Given the description of an element on the screen output the (x, y) to click on. 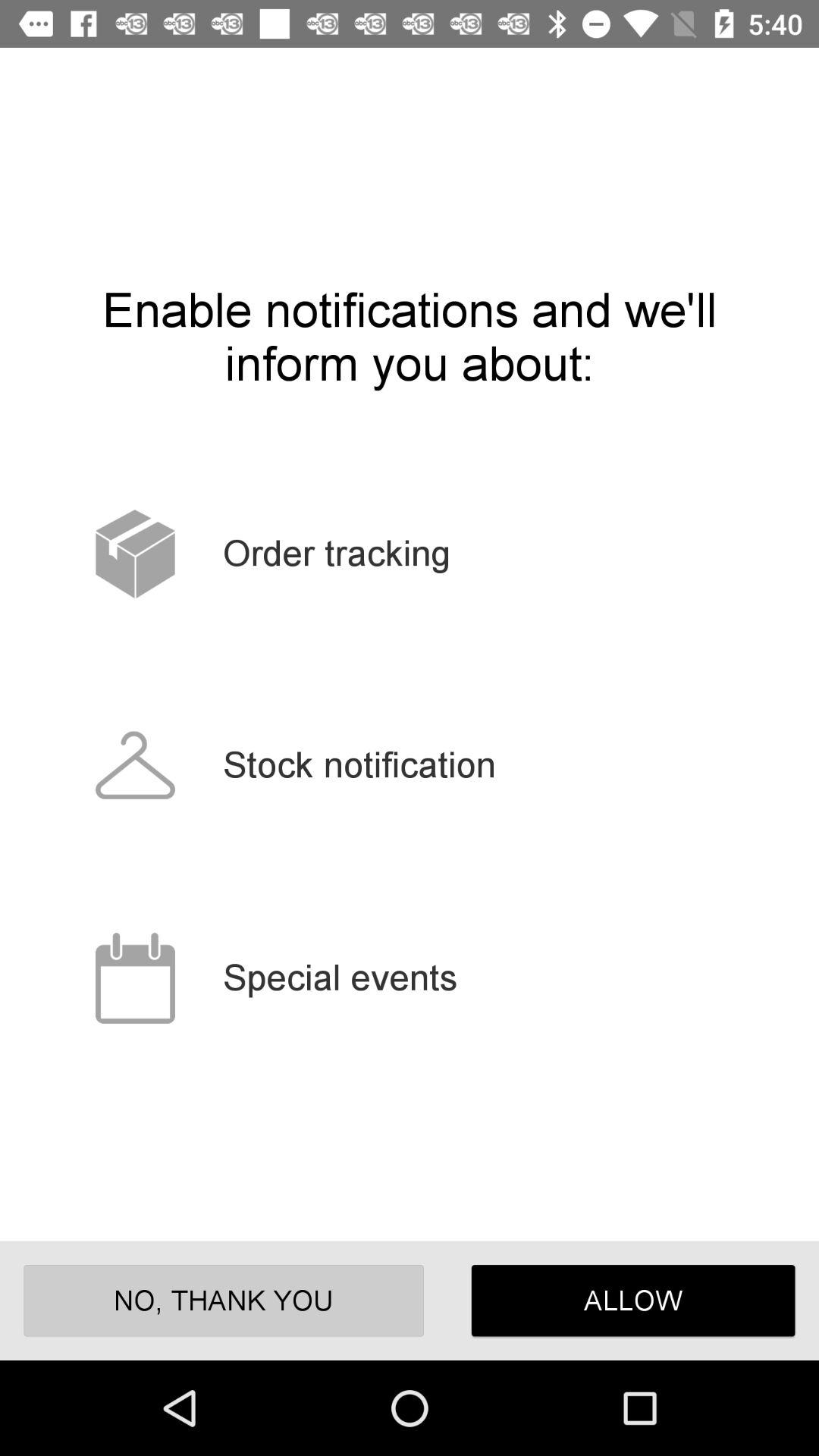
tap the icon at the bottom right corner (633, 1300)
